Given the description of an element on the screen output the (x, y) to click on. 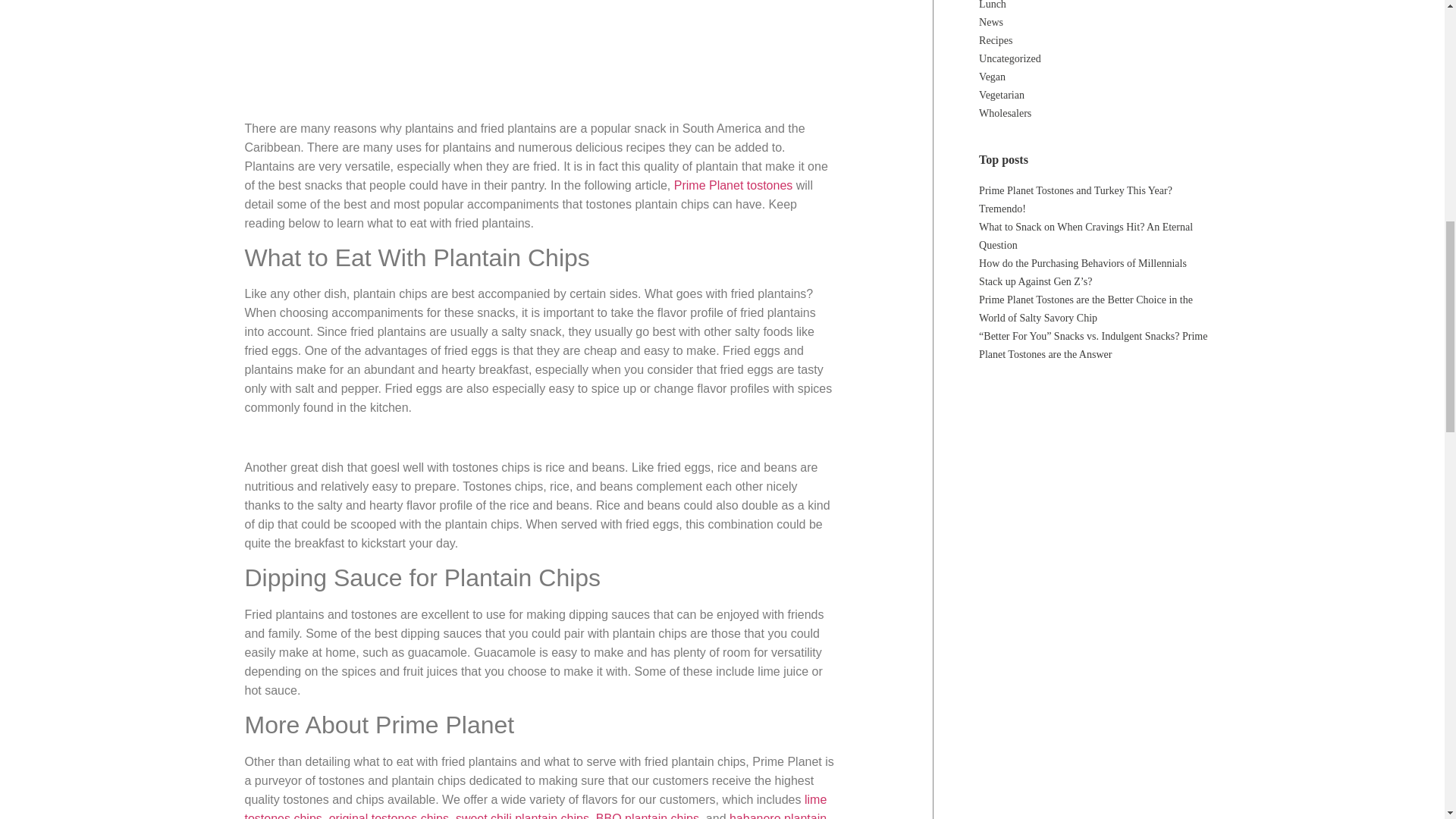
lime tostones chips (535, 806)
original tostones chips (388, 815)
Prime Planet tostones (733, 185)
